Given the description of an element on the screen output the (x, y) to click on. 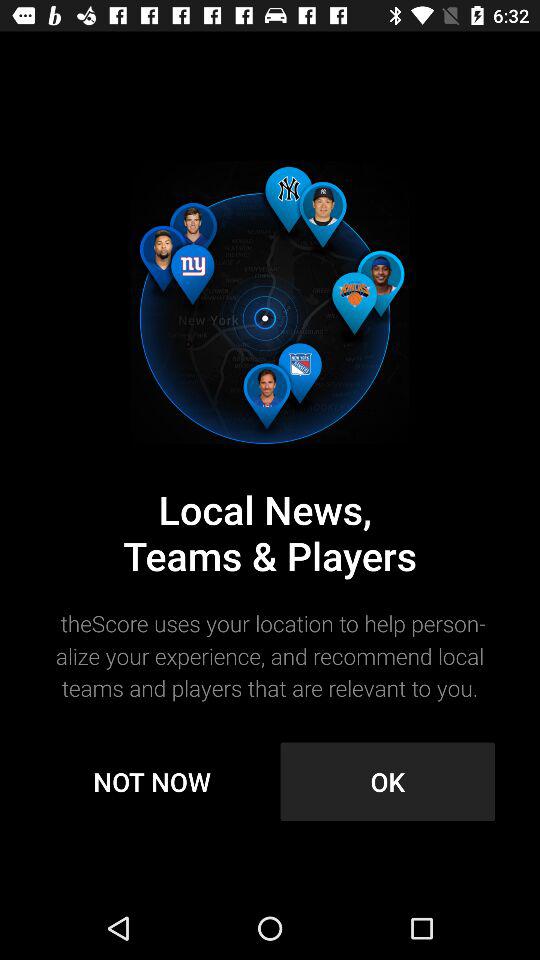
press the item at the bottom right corner (387, 781)
